Given the description of an element on the screen output the (x, y) to click on. 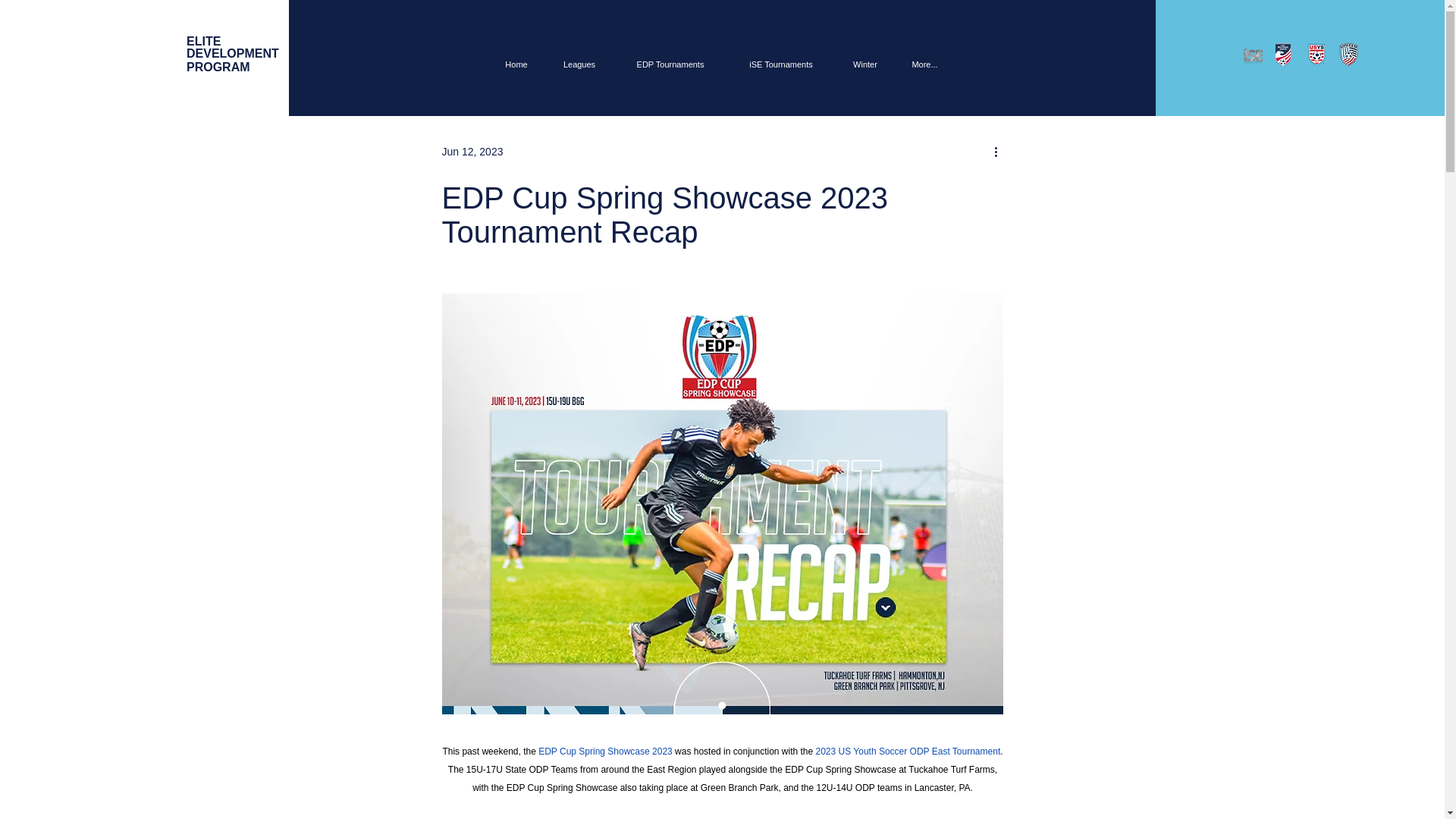
Jun 12, 2023 (471, 151)
EDP Tournaments (232, 54)
Home (670, 64)
Leagues (515, 64)
